Given the description of an element on the screen output the (x, y) to click on. 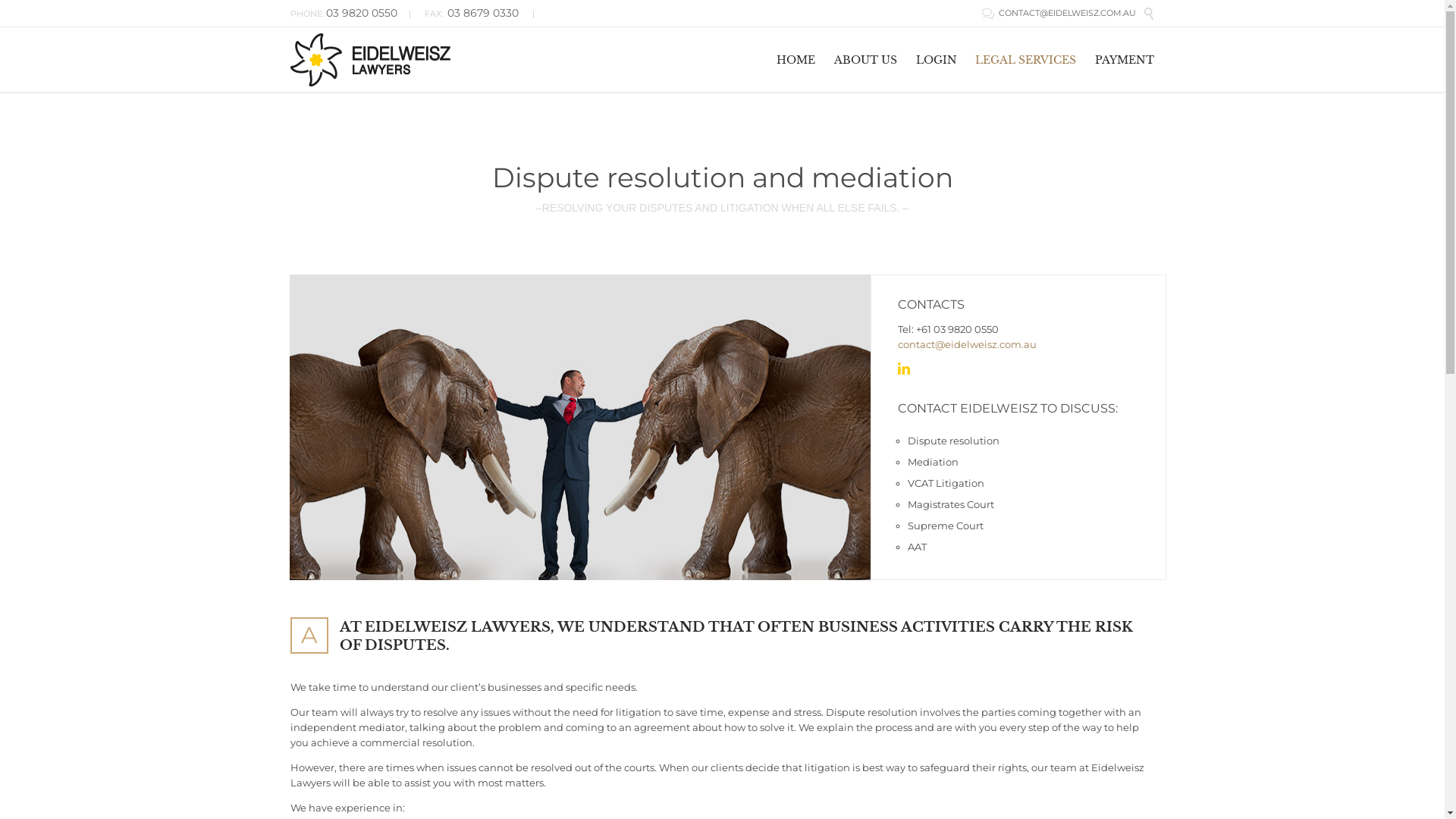
Skip to content Element type: text (1163, 39)
contact@eidelweisz.com.au Element type: text (966, 344)
Eidelweisz Lawyers Element type: hover (369, 59)
ABOUT US Element type: text (865, 59)
LEGAL SERVICES Element type: text (1025, 59)
03 9820 0550 Element type: text (361, 13)
LOGIN Element type: text (936, 59)
03 8679 0330 Element type: text (482, 13)
HOME Element type: text (796, 59)
PAYMENT Element type: text (1124, 59)
